Given the description of an element on the screen output the (x, y) to click on. 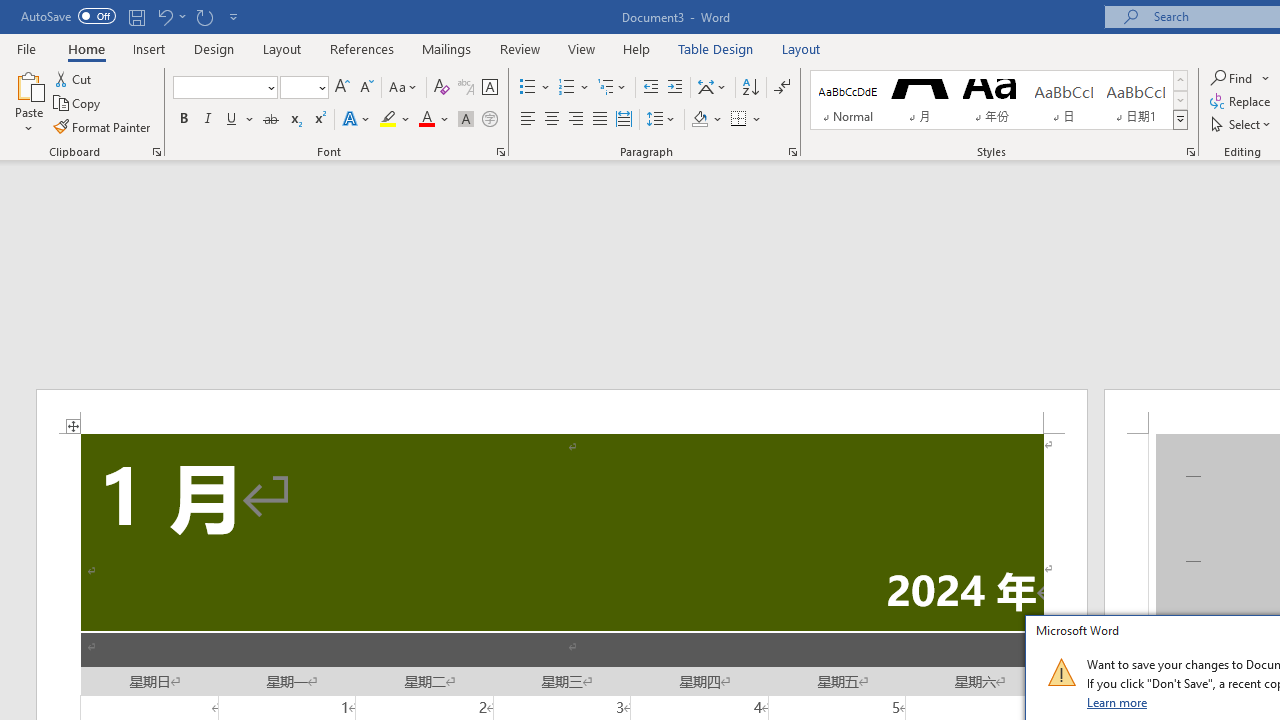
Table Design (715, 48)
Font (218, 87)
Subscript (294, 119)
Undo Apply Quick Style (170, 15)
References (362, 48)
Text Highlight Color Yellow (388, 119)
Copy (78, 103)
Distributed (623, 119)
Asian Layout (712, 87)
Open (320, 87)
Select (1242, 124)
Underline (239, 119)
Bold (183, 119)
